Given the description of an element on the screen output the (x, y) to click on. 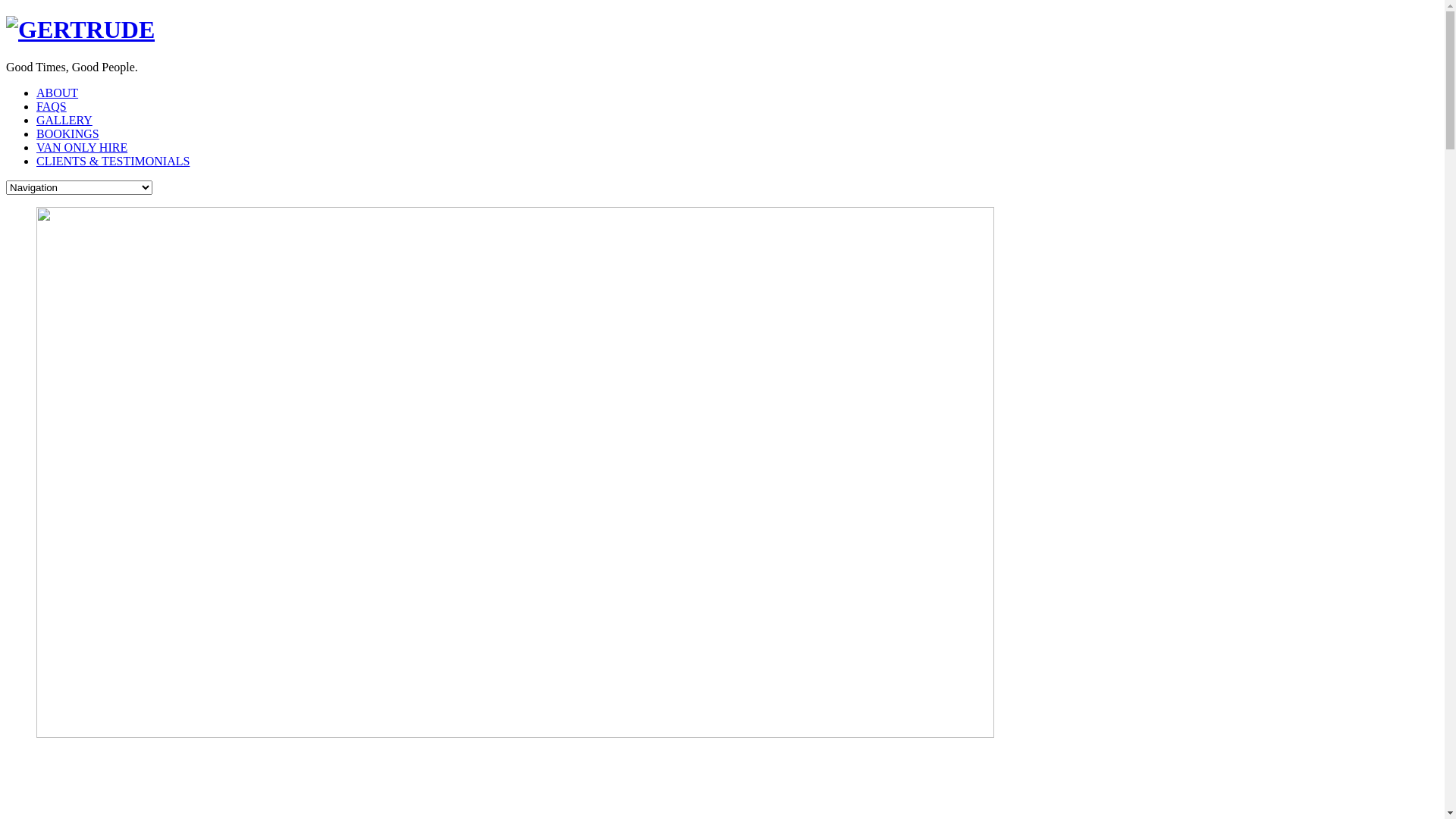
GALLERY Element type: text (64, 119)
ABOUT Element type: text (57, 92)
CLIENTS & TESTIMONIALS Element type: text (112, 160)
BOOKINGS Element type: text (67, 133)
FAQS Element type: text (51, 106)
VAN ONLY HIRE Element type: text (81, 147)
GERTRUDE Element type: hover (80, 29)
